Given the description of an element on the screen output the (x, y) to click on. 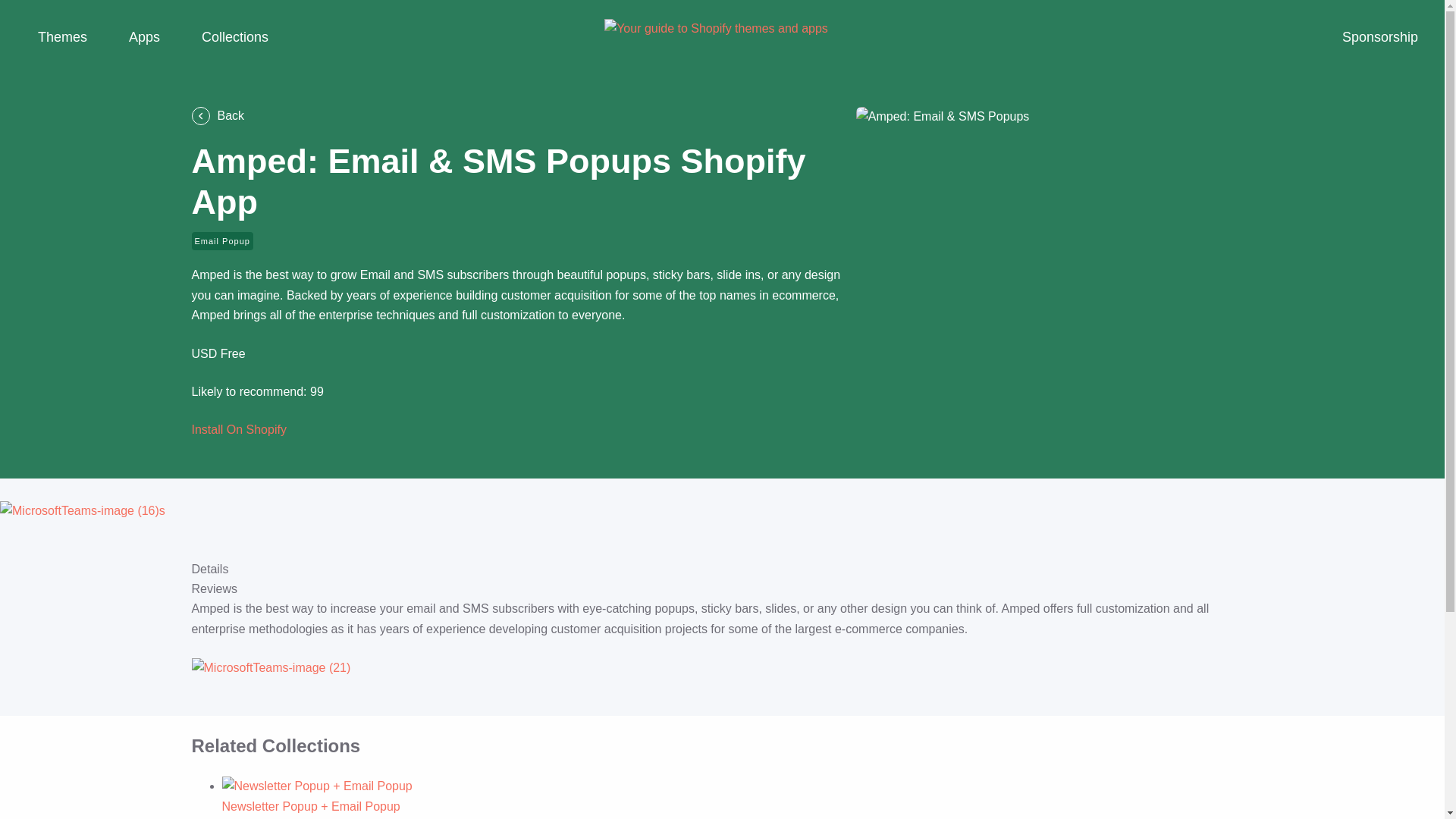
Back (515, 116)
Collections (234, 38)
Skip to content (15, 7)
Apps (143, 38)
Sponsorship (1379, 38)
Email Popup (220, 240)
Install On Shopify (237, 429)
Themes (61, 38)
